Given the description of an element on the screen output the (x, y) to click on. 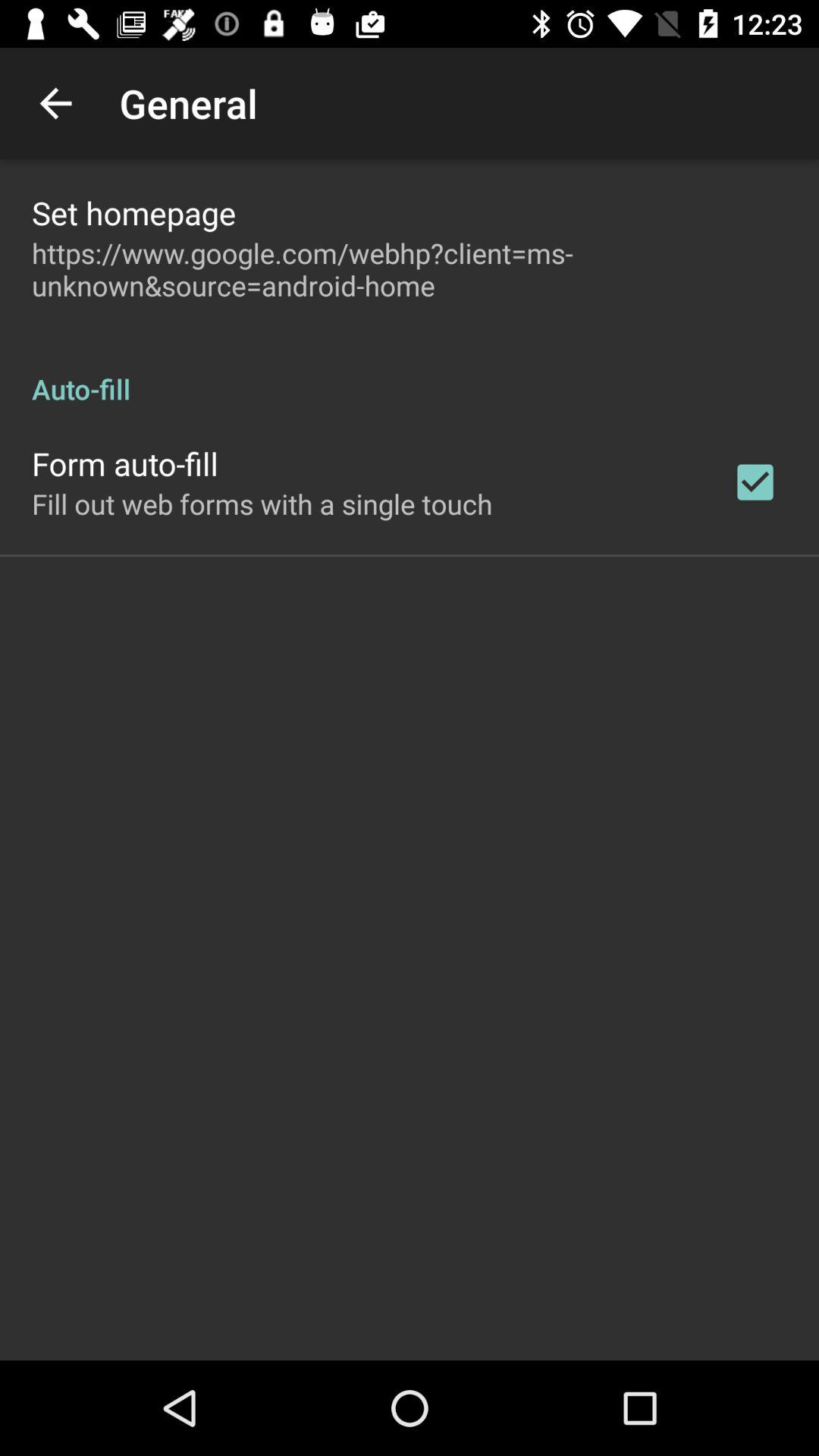
turn off the icon at the top right corner (755, 482)
